Given the description of an element on the screen output the (x, y) to click on. 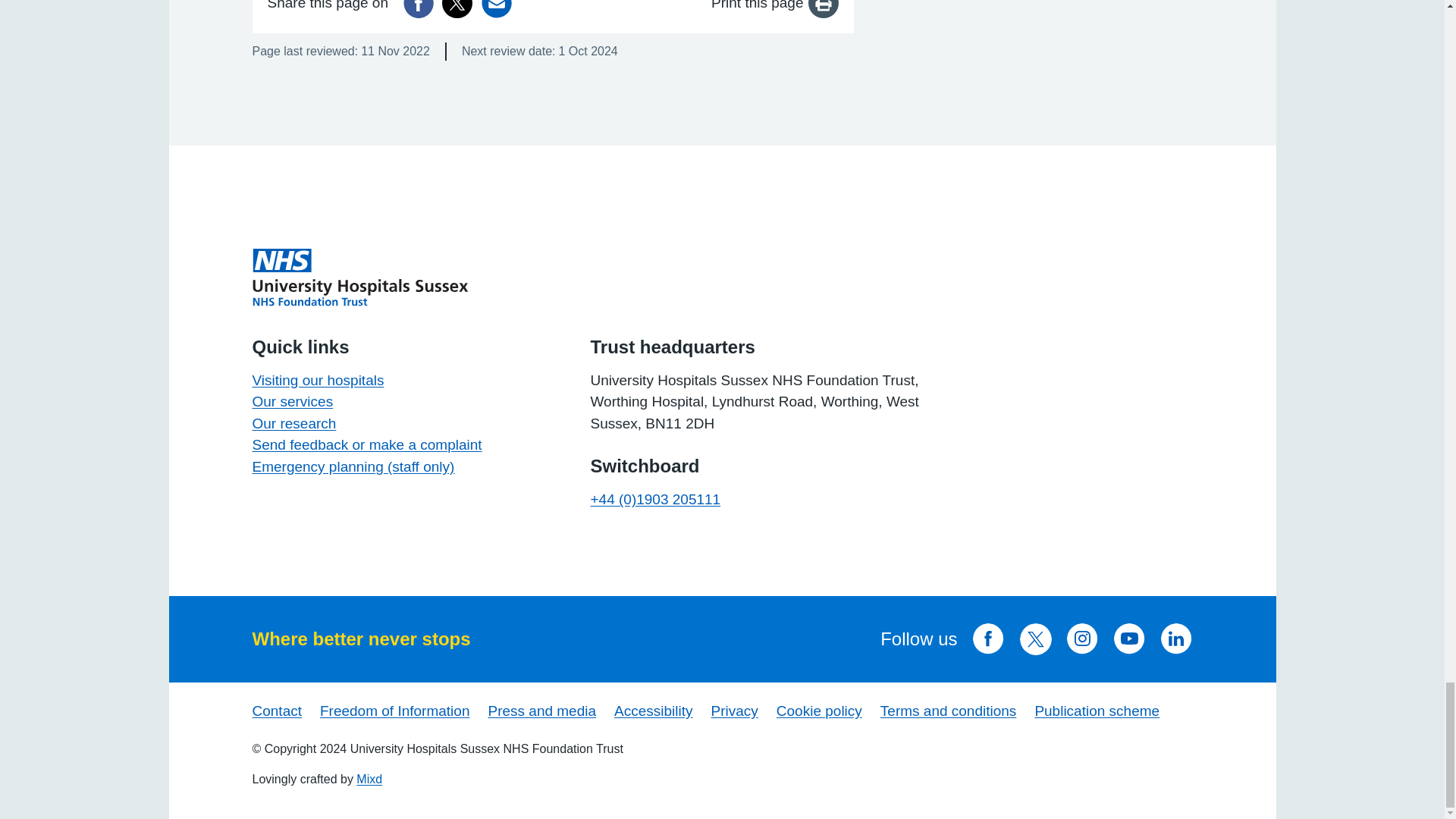
Share on Facebook (418, 8)
Share on Twitter (456, 8)
Excellence as our standard (359, 276)
Share via Email (496, 8)
